Given the description of an element on the screen output the (x, y) to click on. 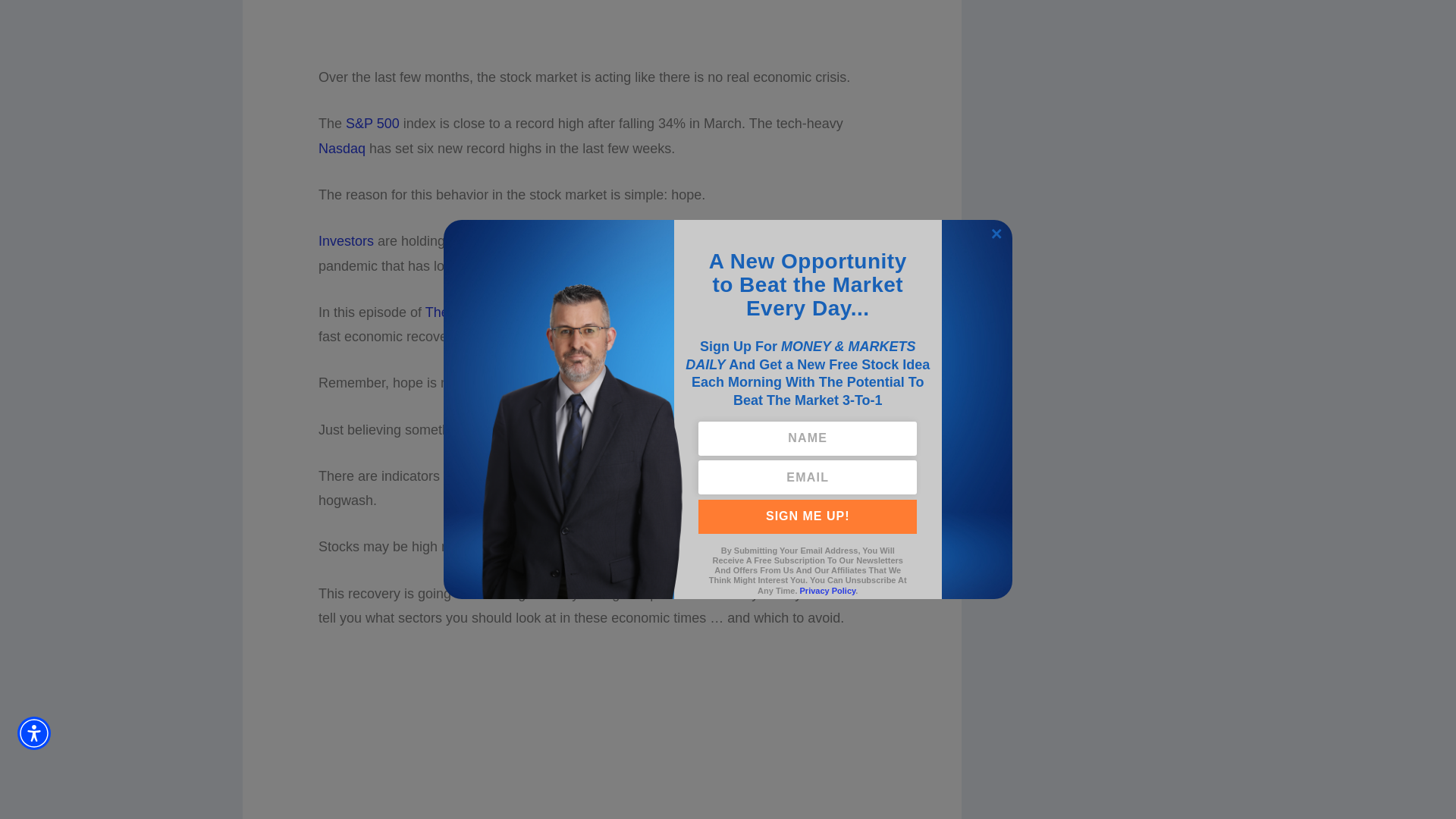
player-captivate (601, 24)
